Given the description of an element on the screen output the (x, y) to click on. 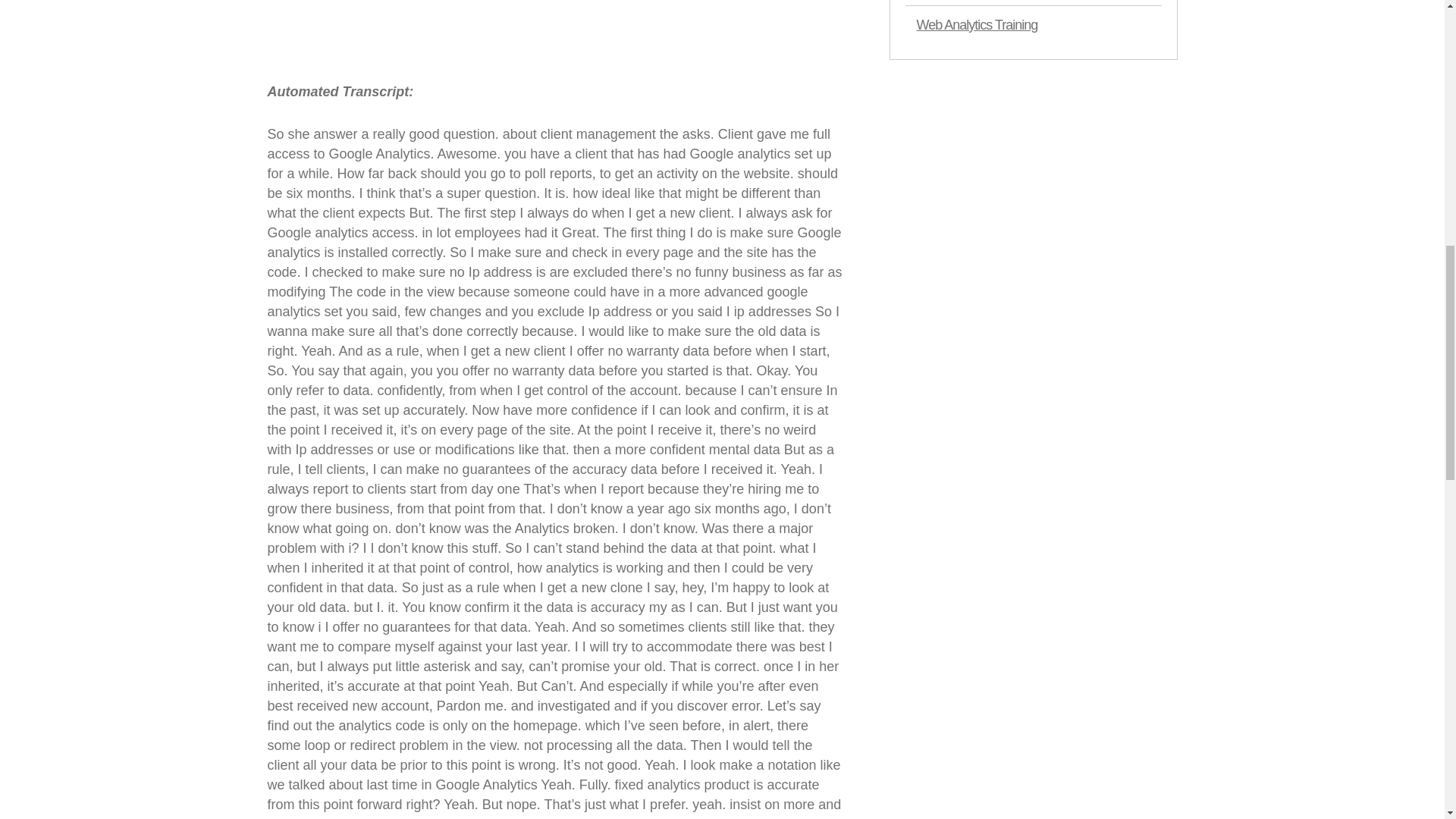
How far back should you go to pull reports for a client? (456, 38)
